Given the description of an element on the screen output the (x, y) to click on. 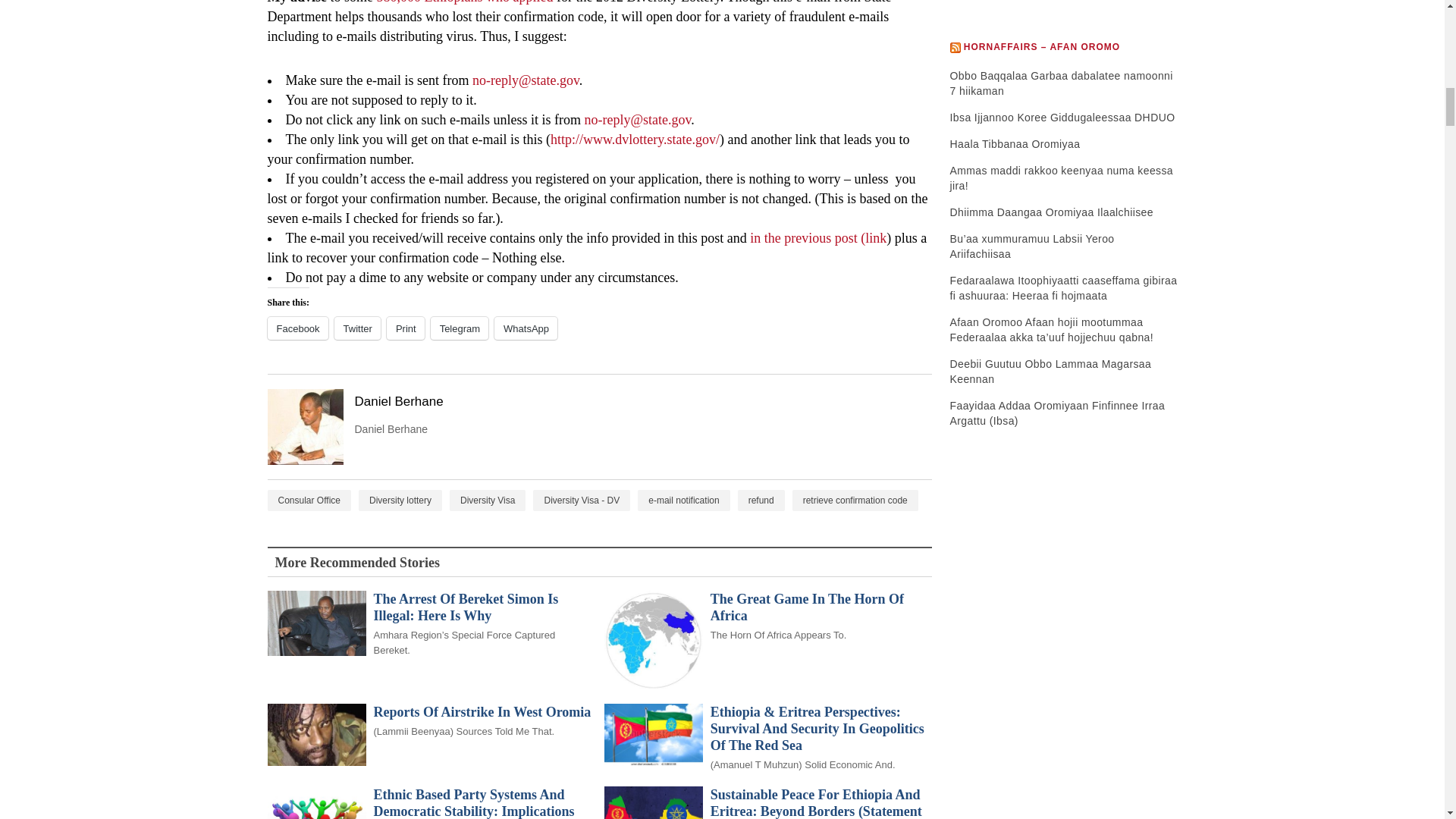
Click to share on WhatsApp (526, 327)
Posts by Daniel Berhane (640, 401)
Click to share on Telegram (458, 327)
Click to share on Twitter (357, 327)
Click to share on Facebook (296, 327)
Click to print (406, 327)
